Given the description of an element on the screen output the (x, y) to click on. 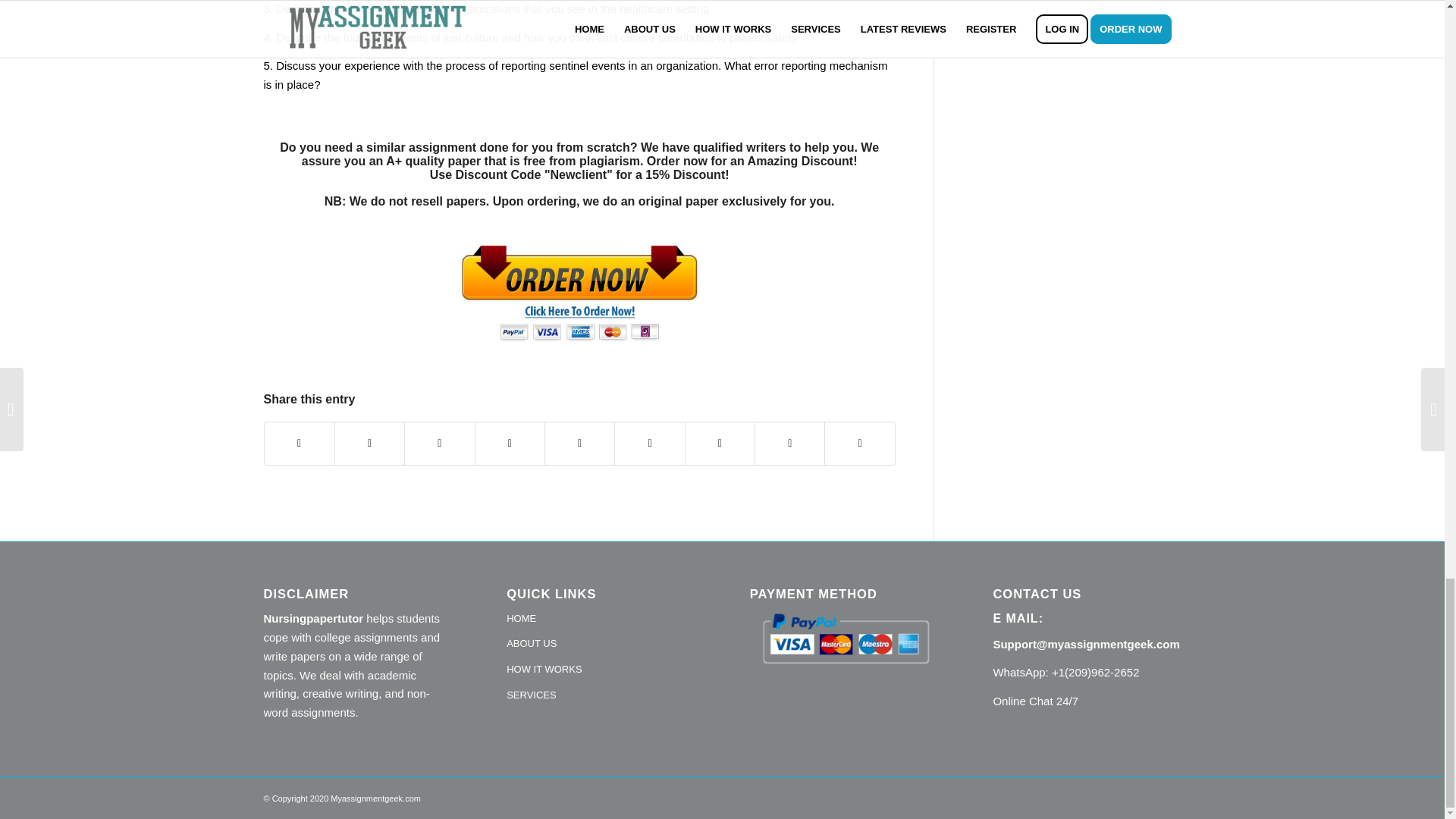
SERVICES (600, 696)
ABOUT US (600, 644)
HOME (600, 619)
HOW IT WORKS (600, 670)
